Given the description of an element on the screen output the (x, y) to click on. 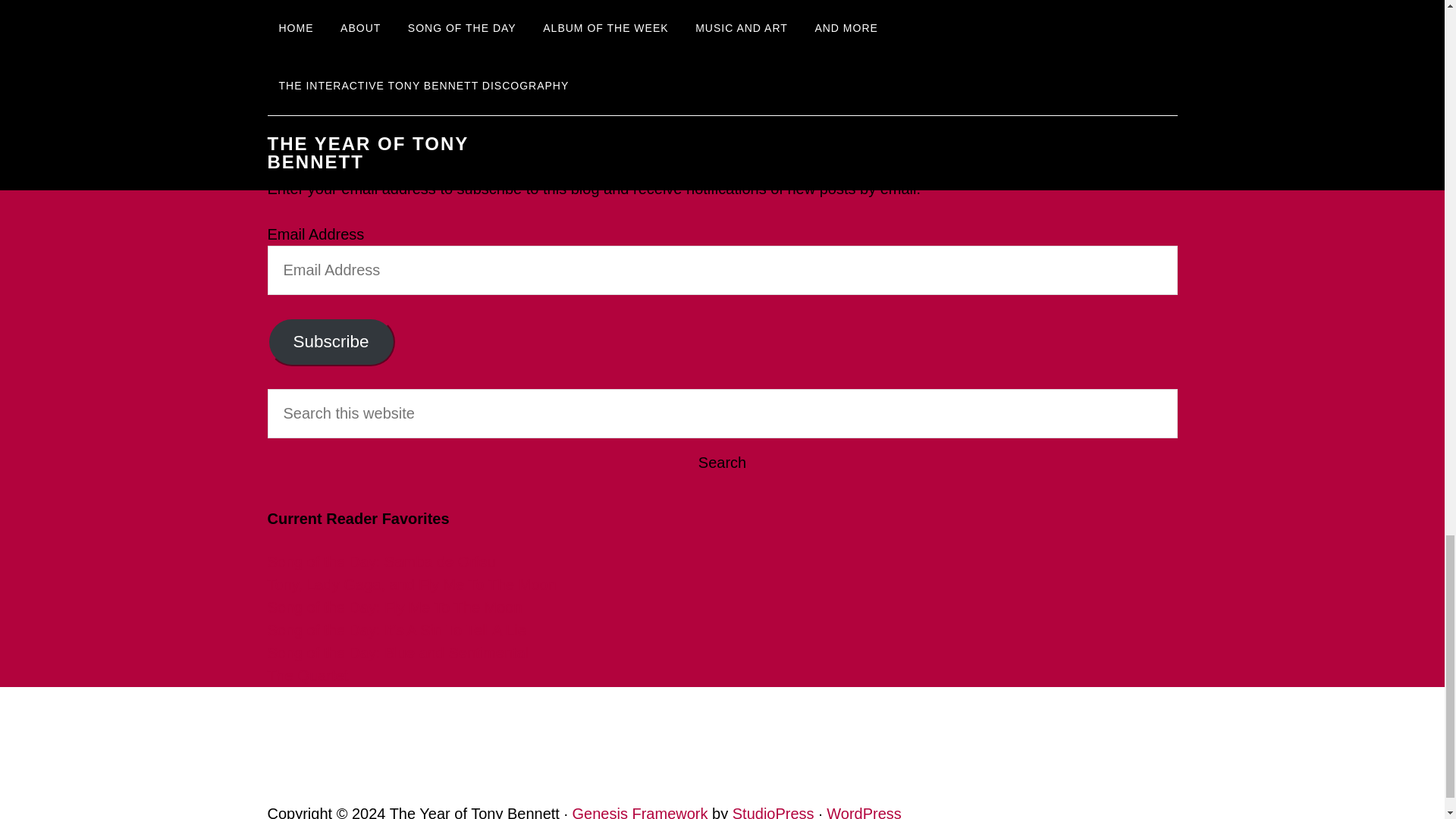
Search (721, 462)
Search (721, 462)
Comment Form (722, 34)
